Given the description of an element on the screen output the (x, y) to click on. 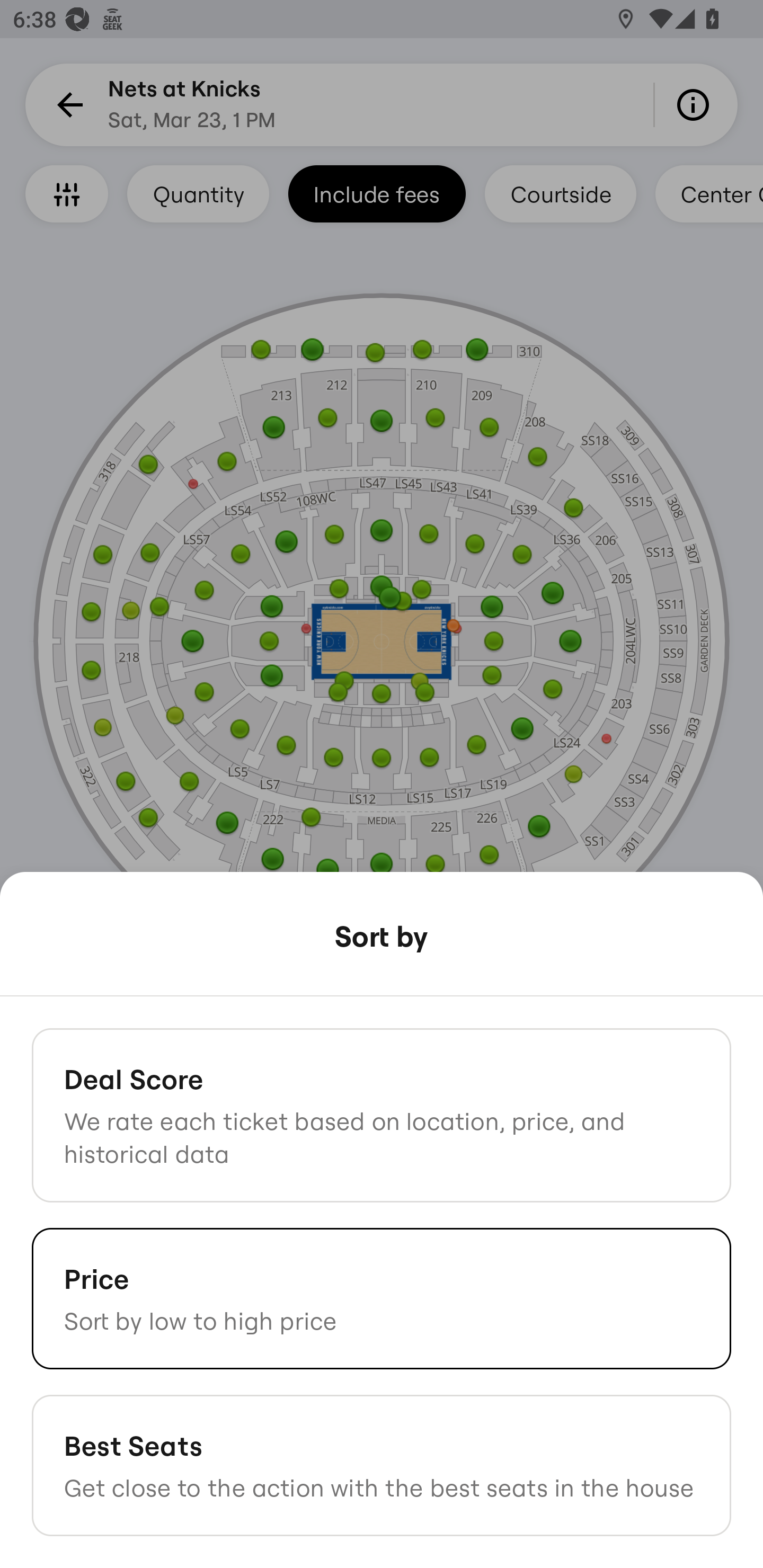
Price Sort by low to high price (381, 1297)
